Given the description of an element on the screen output the (x, y) to click on. 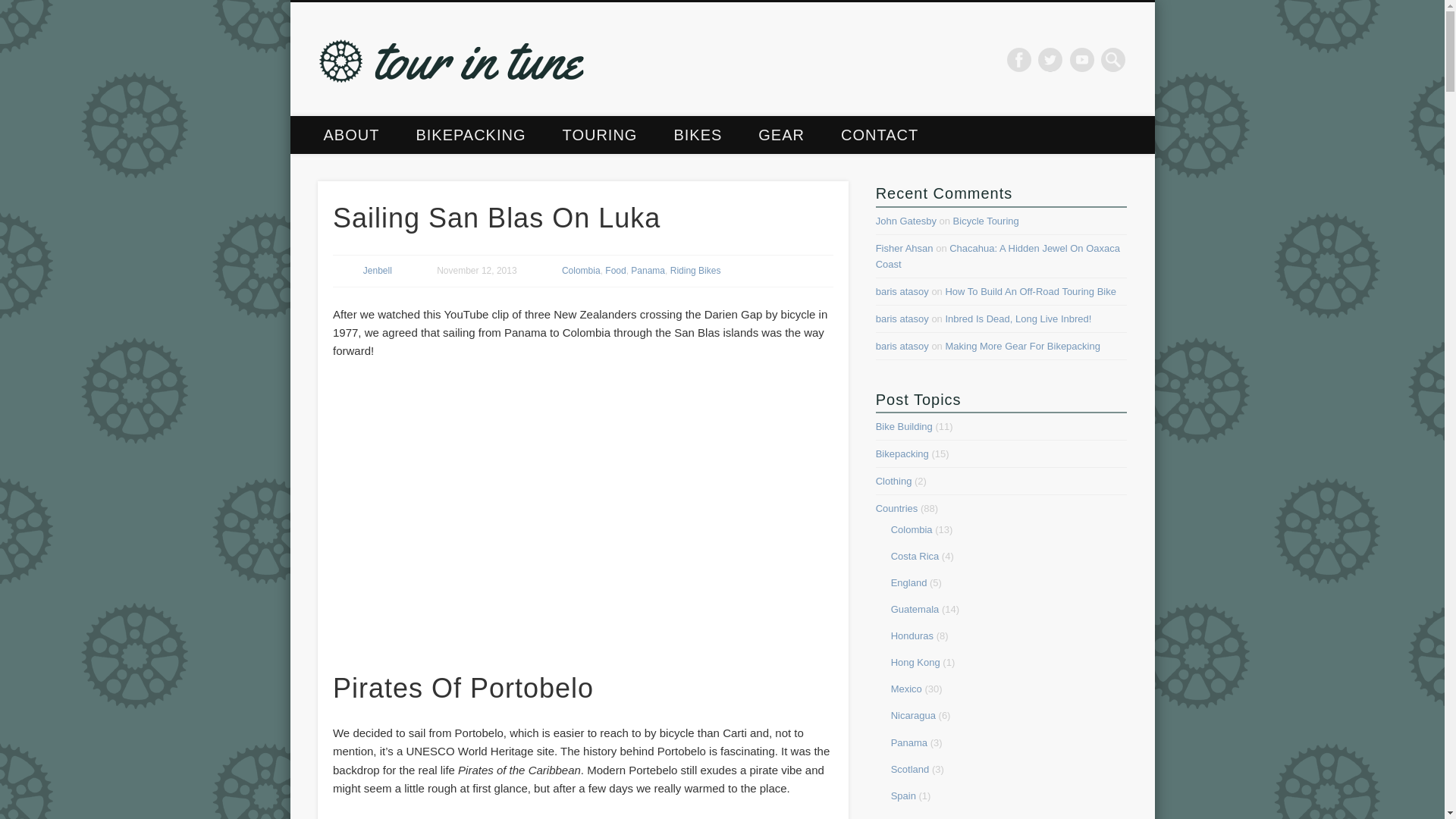
Riding Bikes (694, 270)
CONTACT (879, 134)
Posts by Jenbell (376, 270)
Facebook (1018, 59)
TOURING (600, 134)
Food (615, 270)
Twitter (1050, 59)
Colombia (580, 270)
Search (11, 7)
Jenbell (376, 270)
Tour in Tune (655, 59)
GEAR (780, 134)
ABOUT (350, 134)
BIKES (697, 134)
Vimeo (1082, 59)
